Given the description of an element on the screen output the (x, y) to click on. 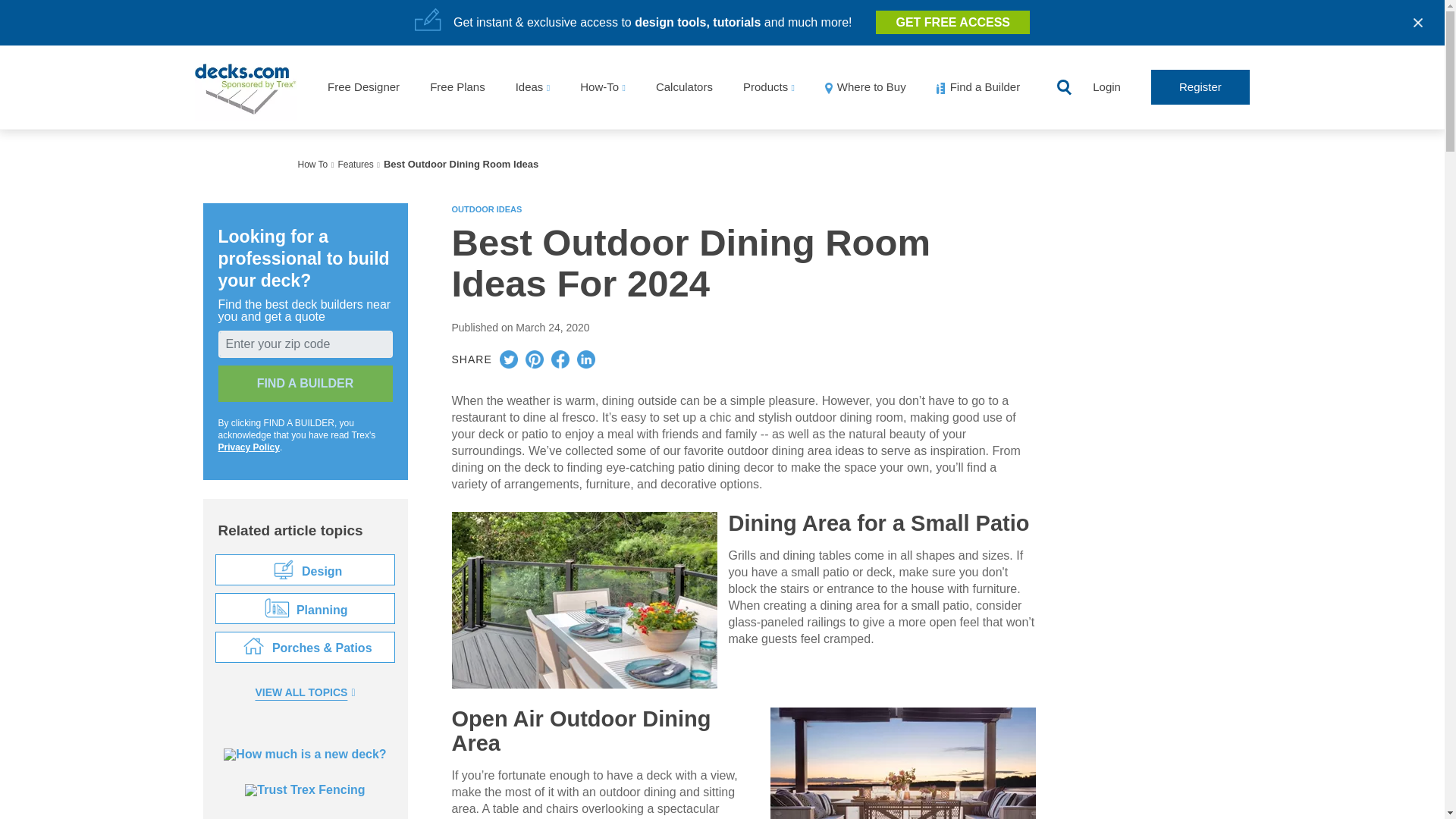
Products (764, 86)
Free Designer (362, 86)
Decks.com (246, 86)
Free Designer (362, 86)
Ideas (529, 86)
How-To (598, 86)
Free Plans (456, 86)
GET FREE ACCESS (952, 21)
Free Plans (456, 86)
Calculators (684, 86)
Close Create Account Banner (1417, 22)
GET FREE ACCESS (952, 21)
